Given the description of an element on the screen output the (x, y) to click on. 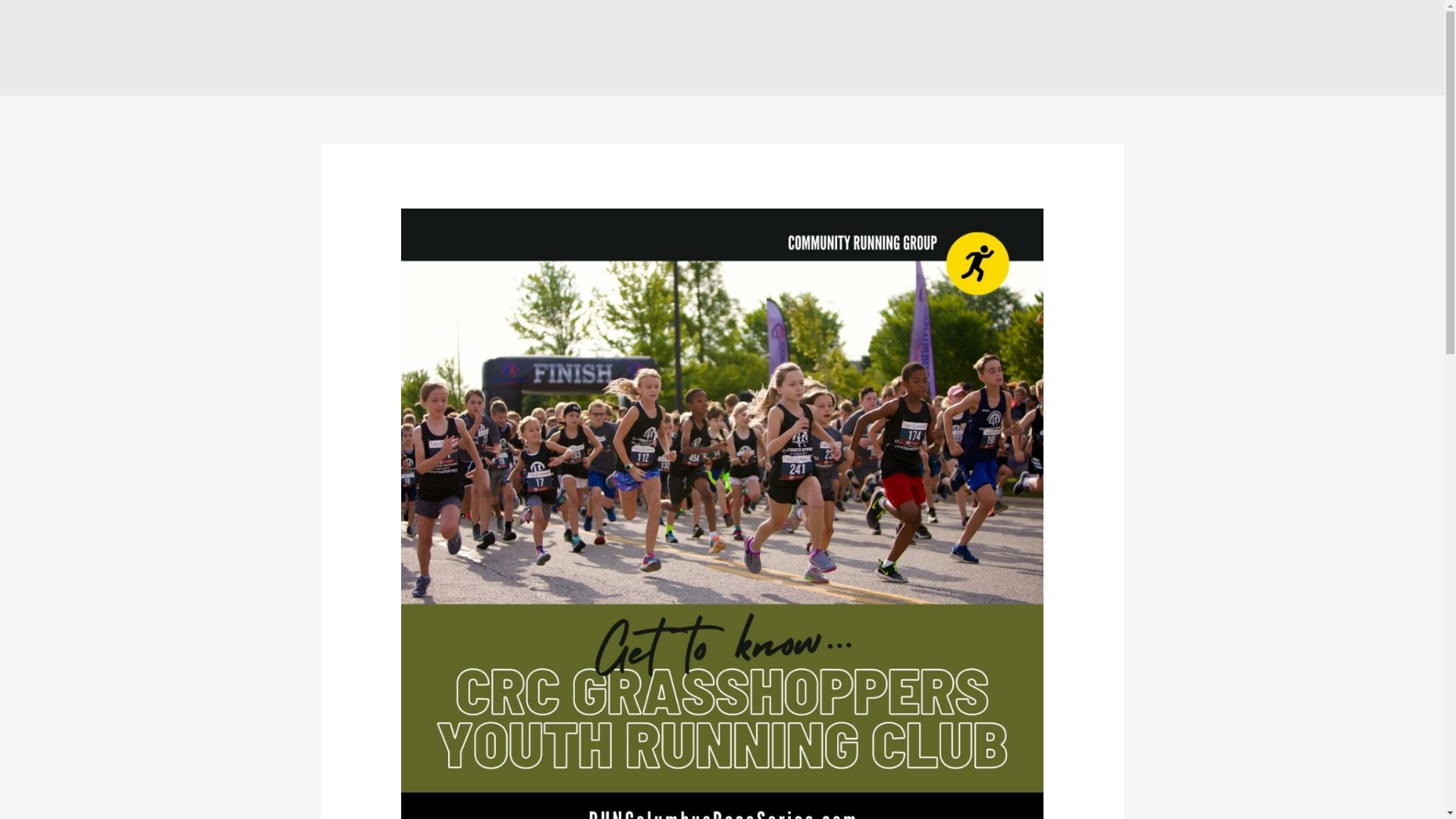
Community Running (583, 67)
Youth Running (692, 67)
Home (498, 67)
